Given the description of an element on the screen output the (x, y) to click on. 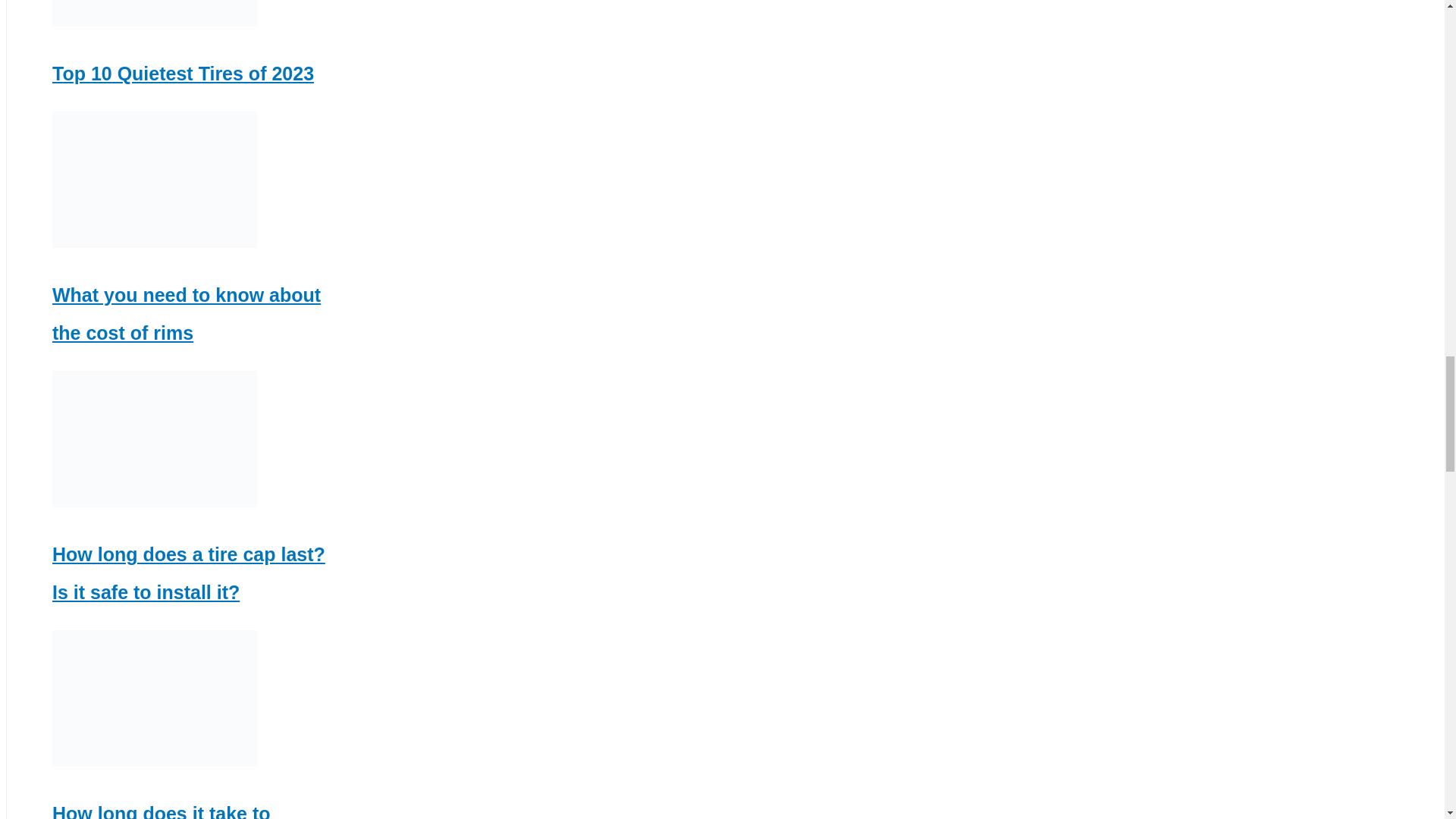
How long does it take to change tires (161, 811)
What you need to know about the cost of rims (186, 313)
Top 10 Quietest Tires of 2023 (183, 73)
How long does a tire cap last? Is it safe to install it? (188, 572)
